Given the description of an element on the screen output the (x, y) to click on. 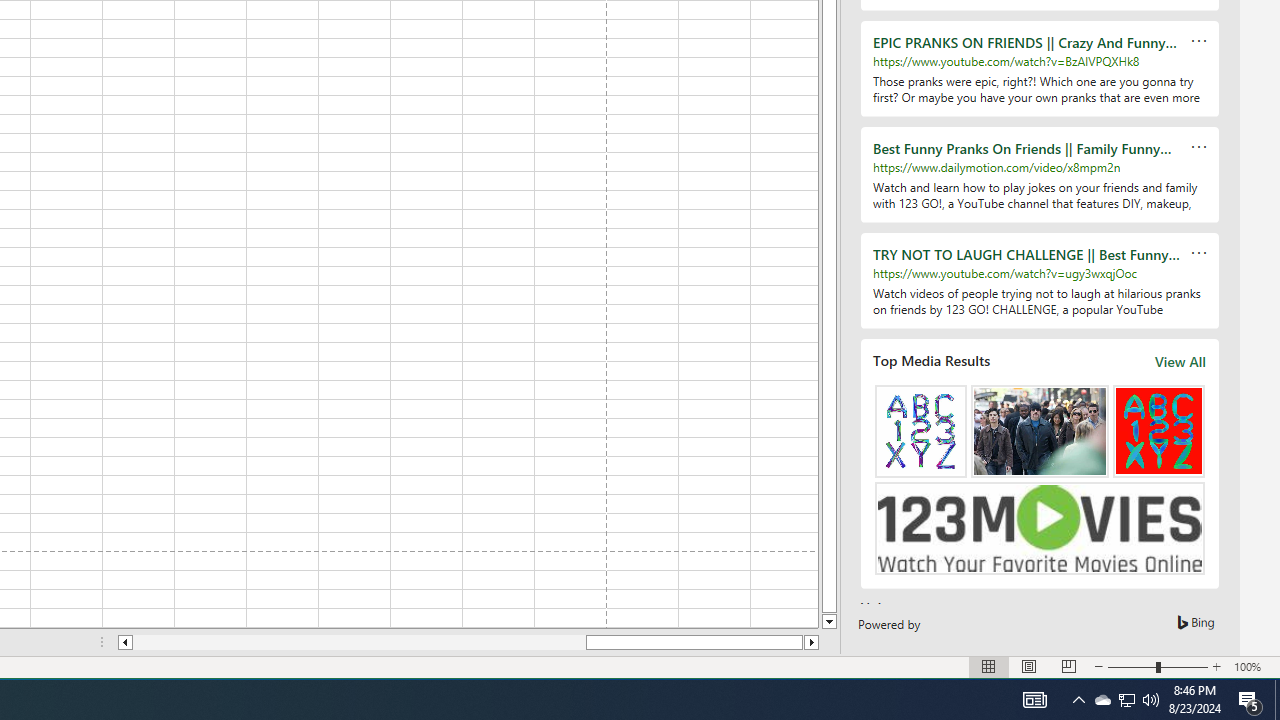
Action Center, 5 new notifications (1250, 699)
Show desktop (1277, 699)
User Promoted Notification Area (1126, 699)
